Given the description of an element on the screen output the (x, y) to click on. 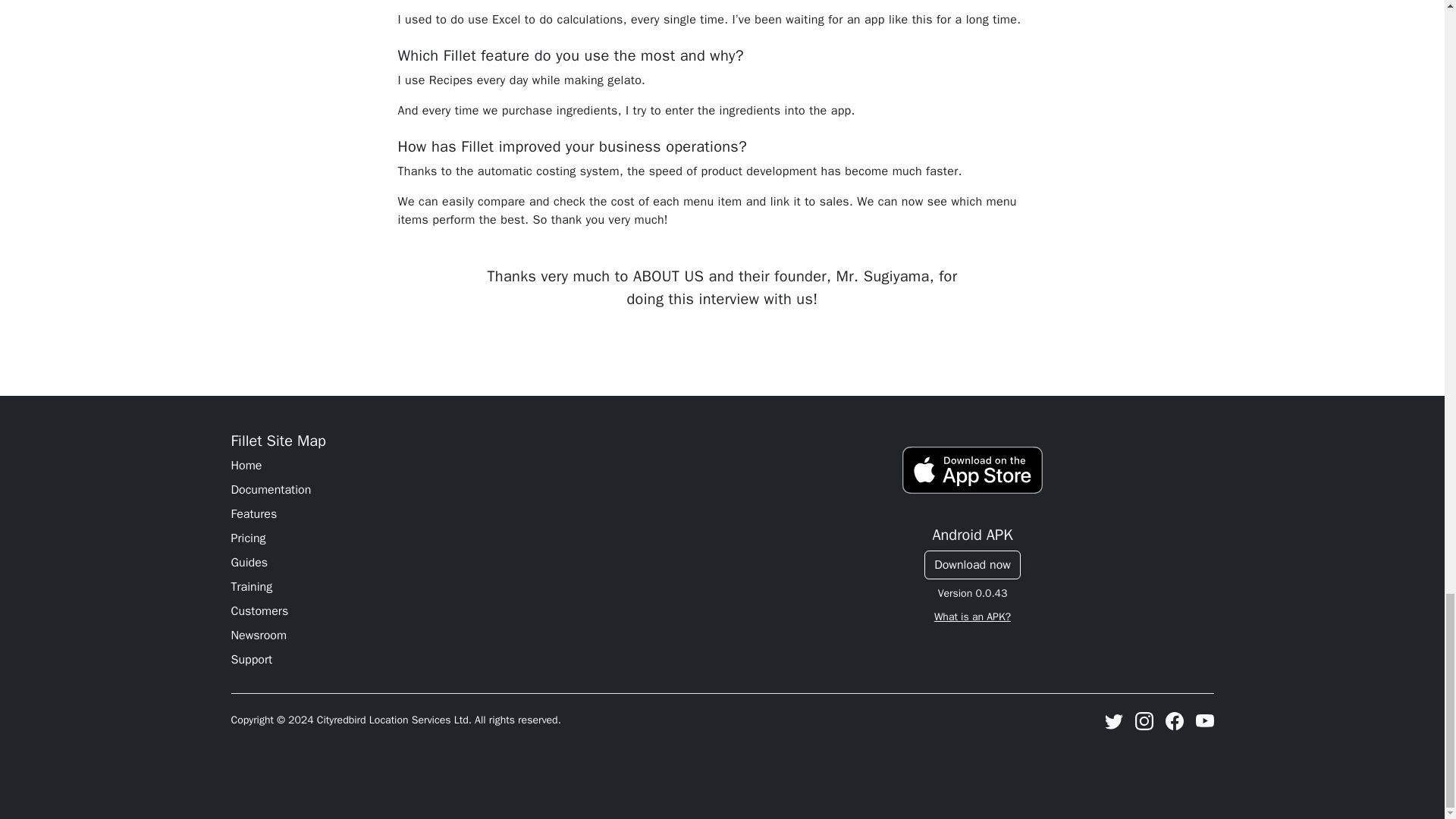
Support (471, 659)
Newsroom (471, 635)
Guides (471, 562)
Pricing (471, 538)
Download now (972, 564)
What is an APK? (972, 616)
Documentation (471, 489)
Features (471, 514)
Customers (471, 610)
Training (471, 587)
Home (471, 465)
